Given the description of an element on the screen output the (x, y) to click on. 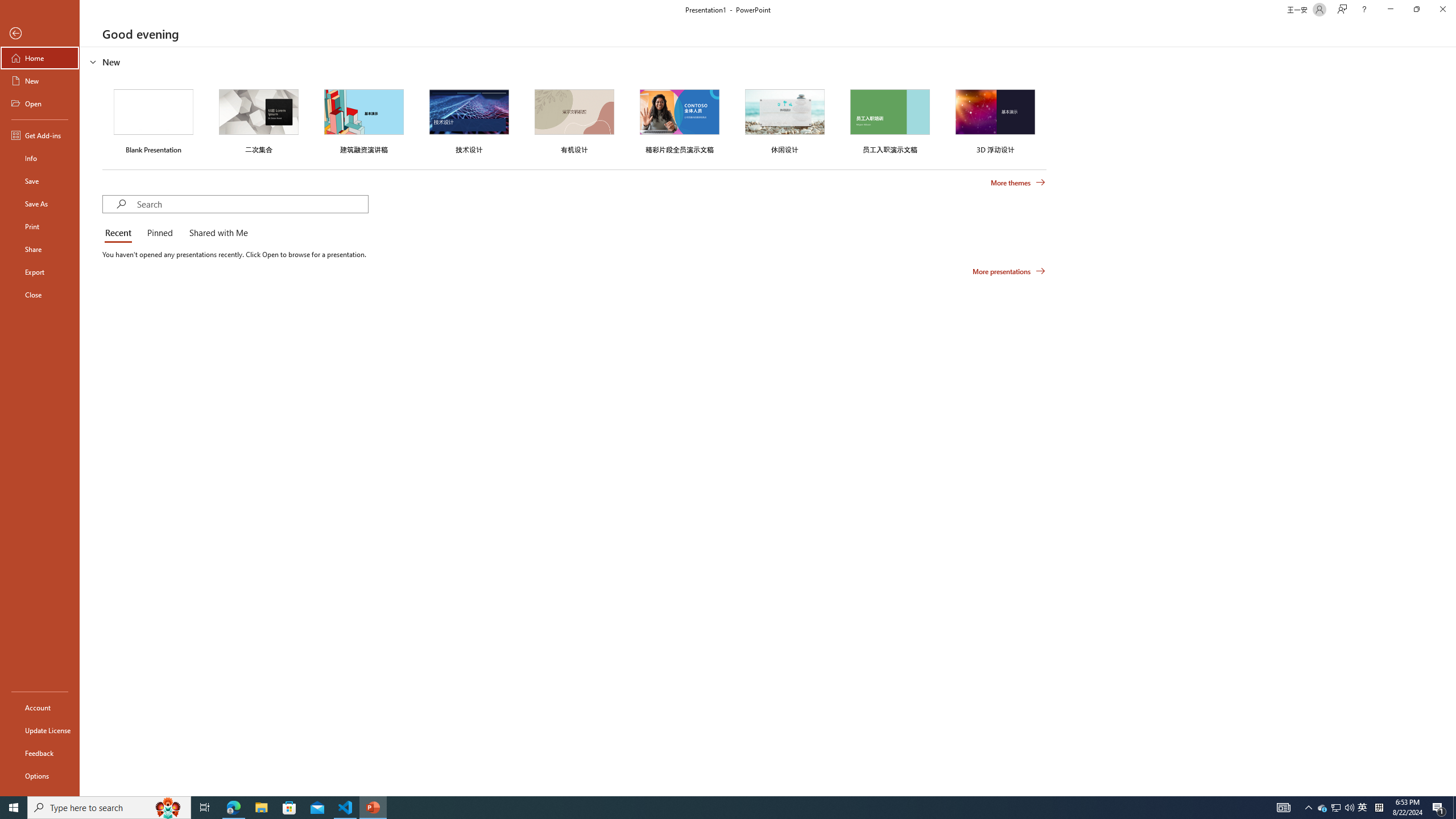
Feedback (40, 753)
Save As (40, 203)
Blank Presentation (153, 119)
More themes (1018, 182)
More presentations (1008, 270)
Shared with Me (215, 233)
Export (40, 271)
